Given the description of an element on the screen output the (x, y) to click on. 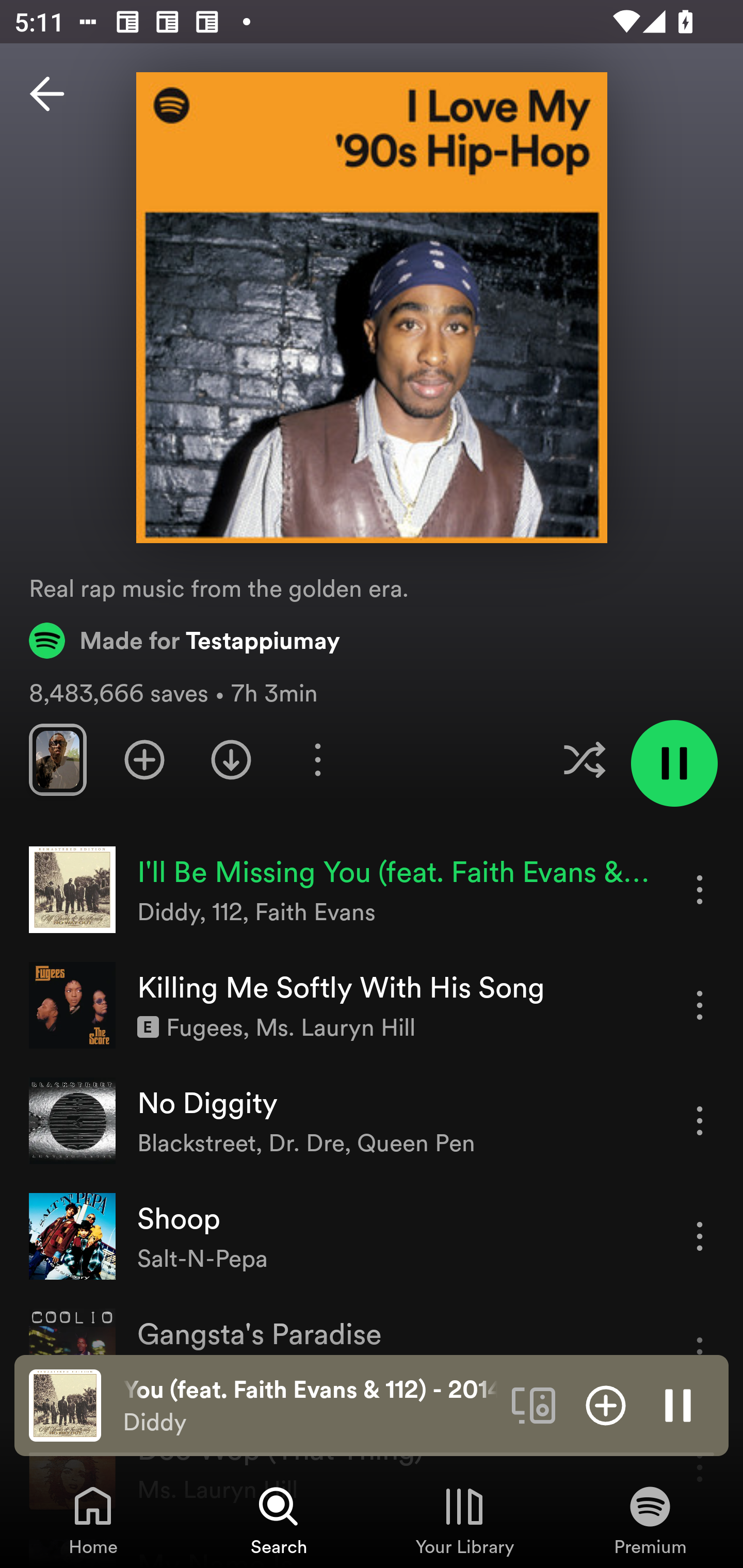
Back (46, 93)
Made for Testappiumay (184, 640)
Swipe through previews of tracks in this playlist. (57, 759)
Add playlist to Your Library (144, 759)
Download (230, 759)
More options for playlist I Love My '90s Hip-Hop (317, 759)
Enable shuffle for this playlist (583, 759)
Pause playlist (674, 763)
More options for song No Diggity (699, 1120)
Shoop Salt-N-Pepa More options for song Shoop (371, 1236)
More options for song Shoop (699, 1236)
The cover art of the currently playing track (64, 1404)
Connect to a device. Opens the devices menu (533, 1404)
Add item (605, 1404)
Pause (677, 1404)
Home, Tab 1 of 4 Home Home (92, 1519)
Search, Tab 2 of 4 Search Search (278, 1519)
Your Library, Tab 3 of 4 Your Library Your Library (464, 1519)
Premium, Tab 4 of 4 Premium Premium (650, 1519)
